Given the description of an element on the screen output the (x, y) to click on. 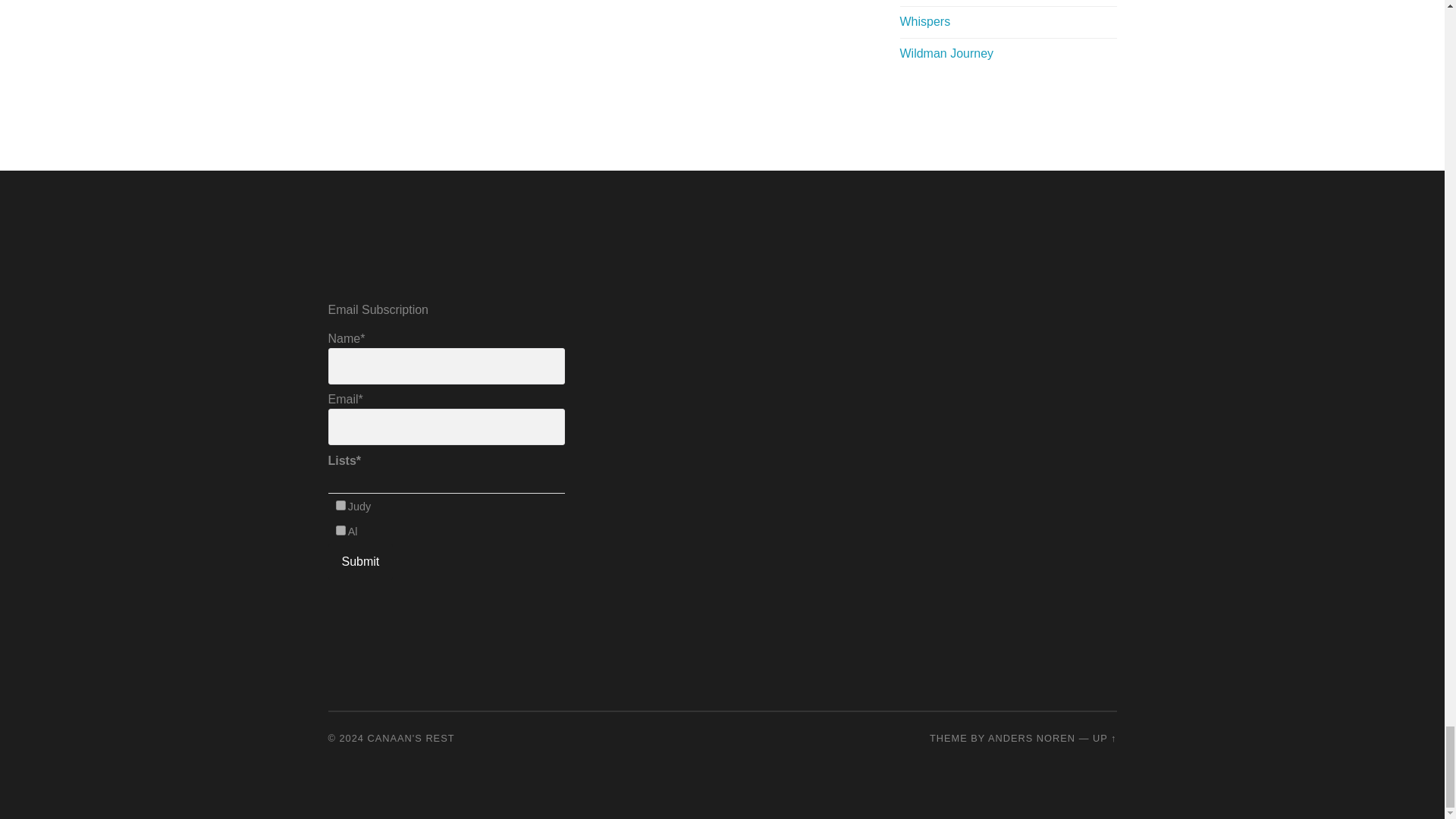
To the top (1104, 737)
3c59cd8b42fd (341, 530)
90f40595a265 (341, 505)
Submit (360, 561)
